Given the description of an element on the screen output the (x, y) to click on. 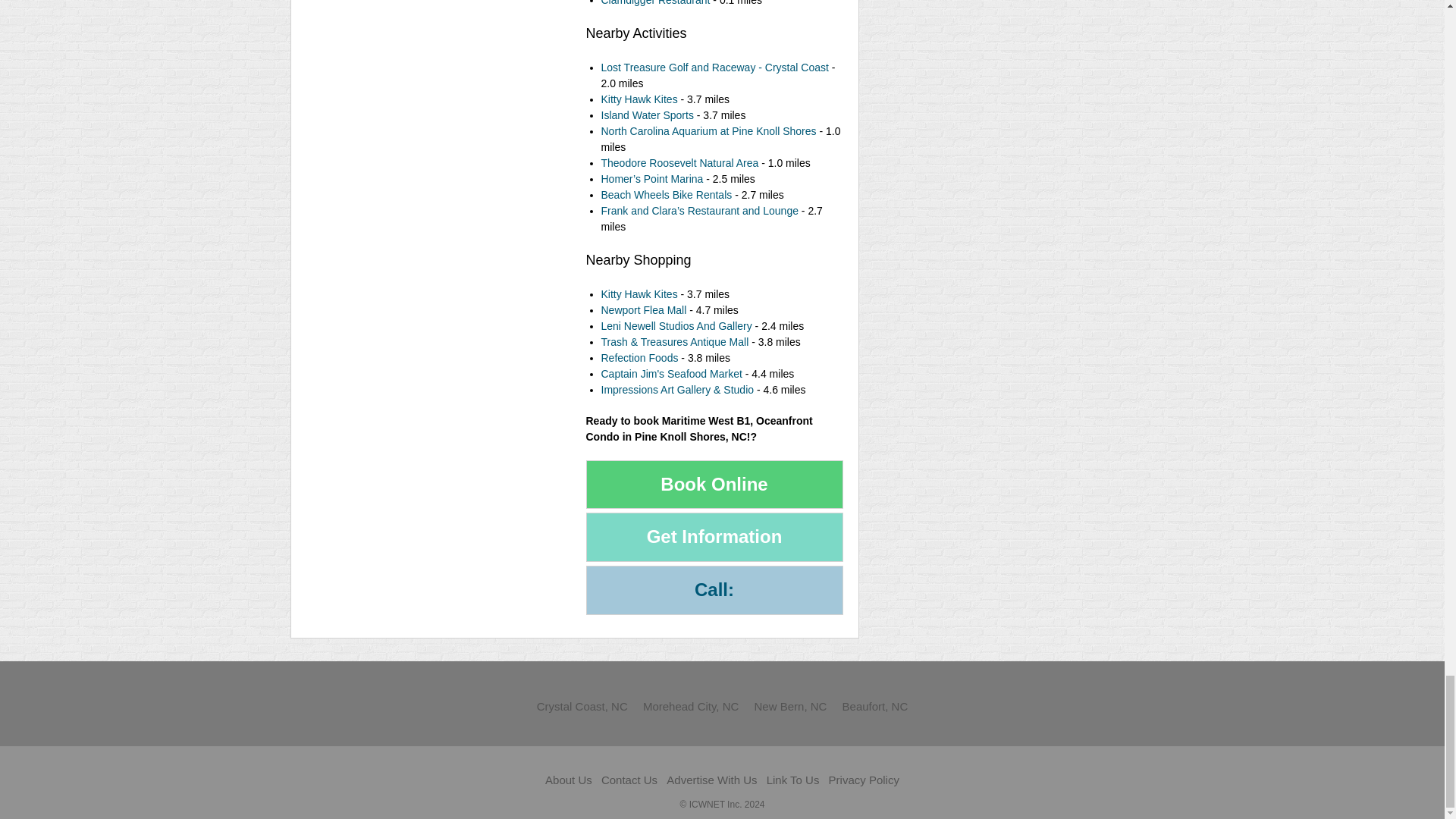
Lost Treasure Golf and Raceway - Crystal Coast (713, 67)
Kitty Hawk Kites (638, 99)
Clamdigger Restaurant (654, 2)
